Given the description of an element on the screen output the (x, y) to click on. 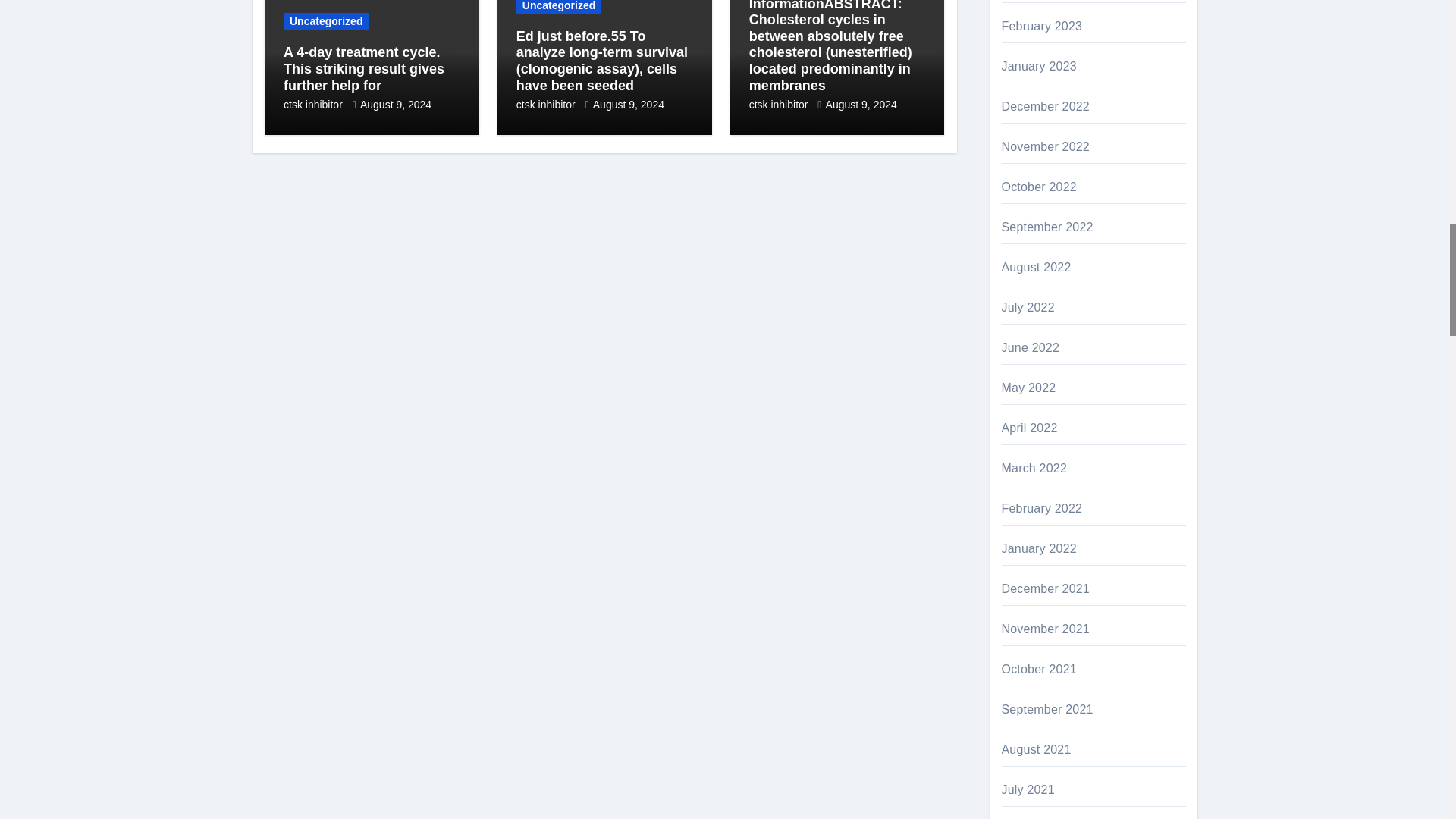
August 9, 2024 (394, 104)
Uncategorized (325, 21)
ctsk inhibitor (314, 104)
